Given the description of an element on the screen output the (x, y) to click on. 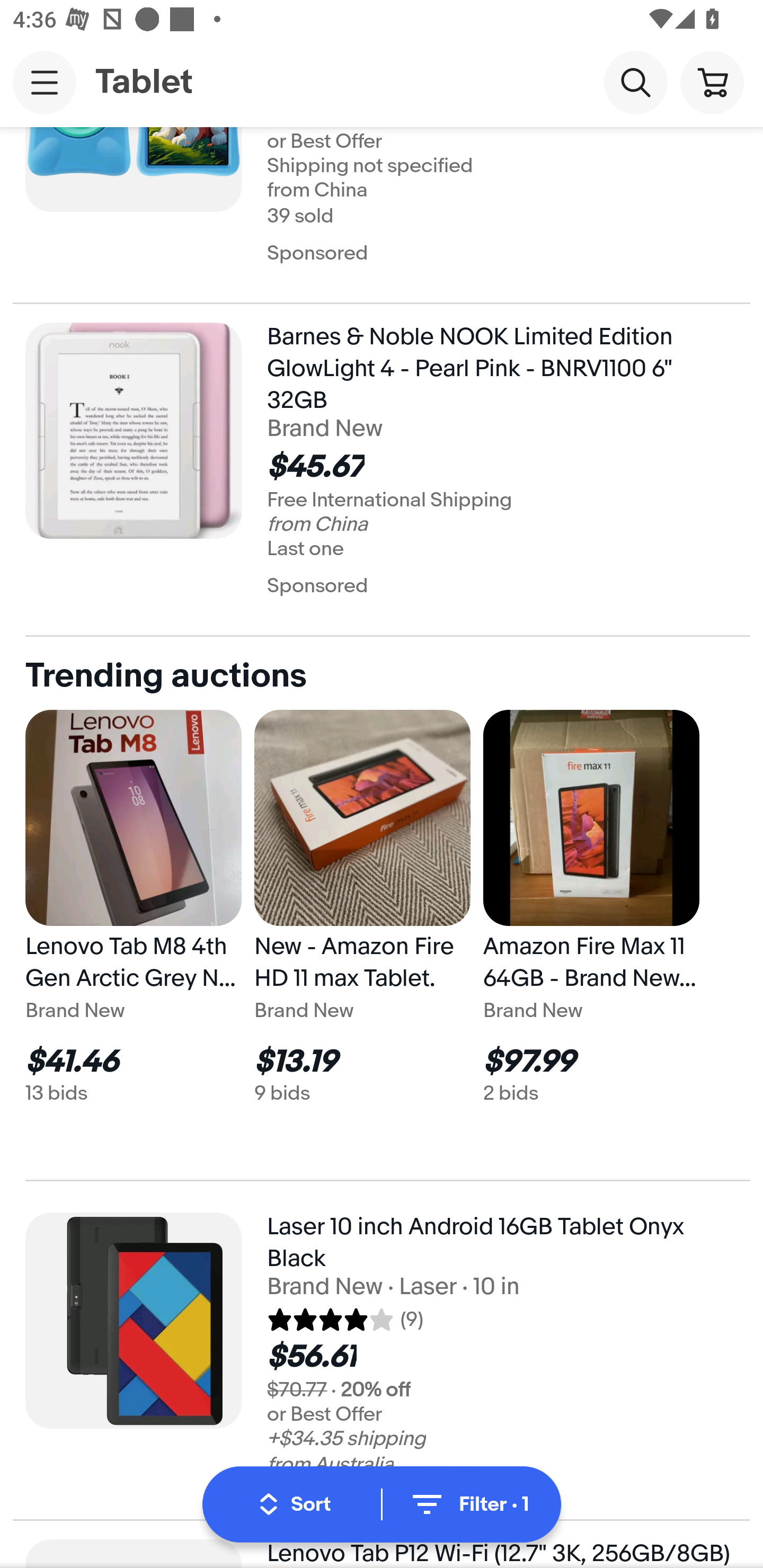
Main navigation, open (44, 82)
Search (635, 81)
Cart button shopping cart (711, 81)
Sort (294, 1504)
Filter • 1 (468, 1504)
